Given the description of an element on the screen output the (x, y) to click on. 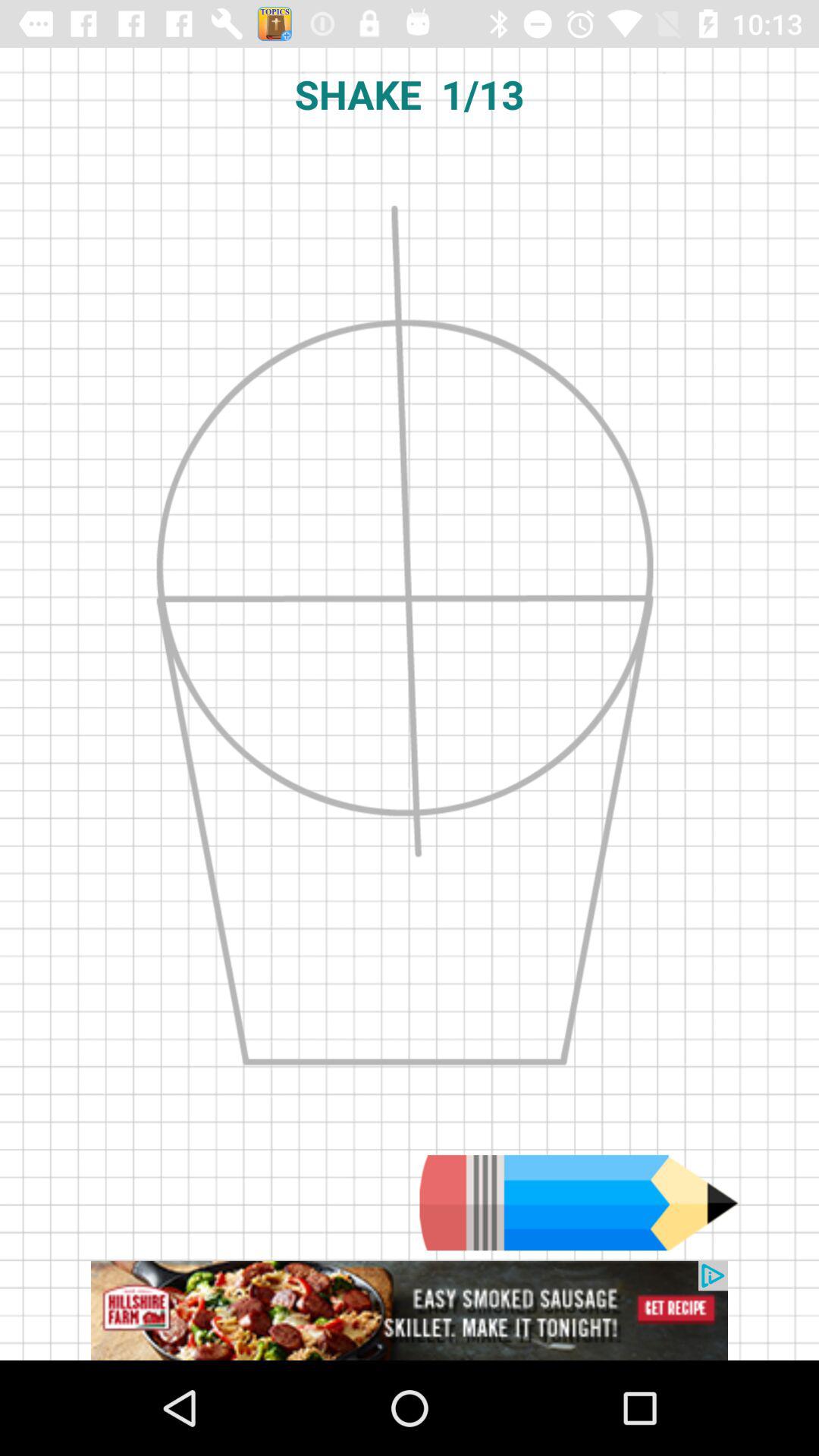
next arrow option (578, 1202)
